Given the description of an element on the screen output the (x, y) to click on. 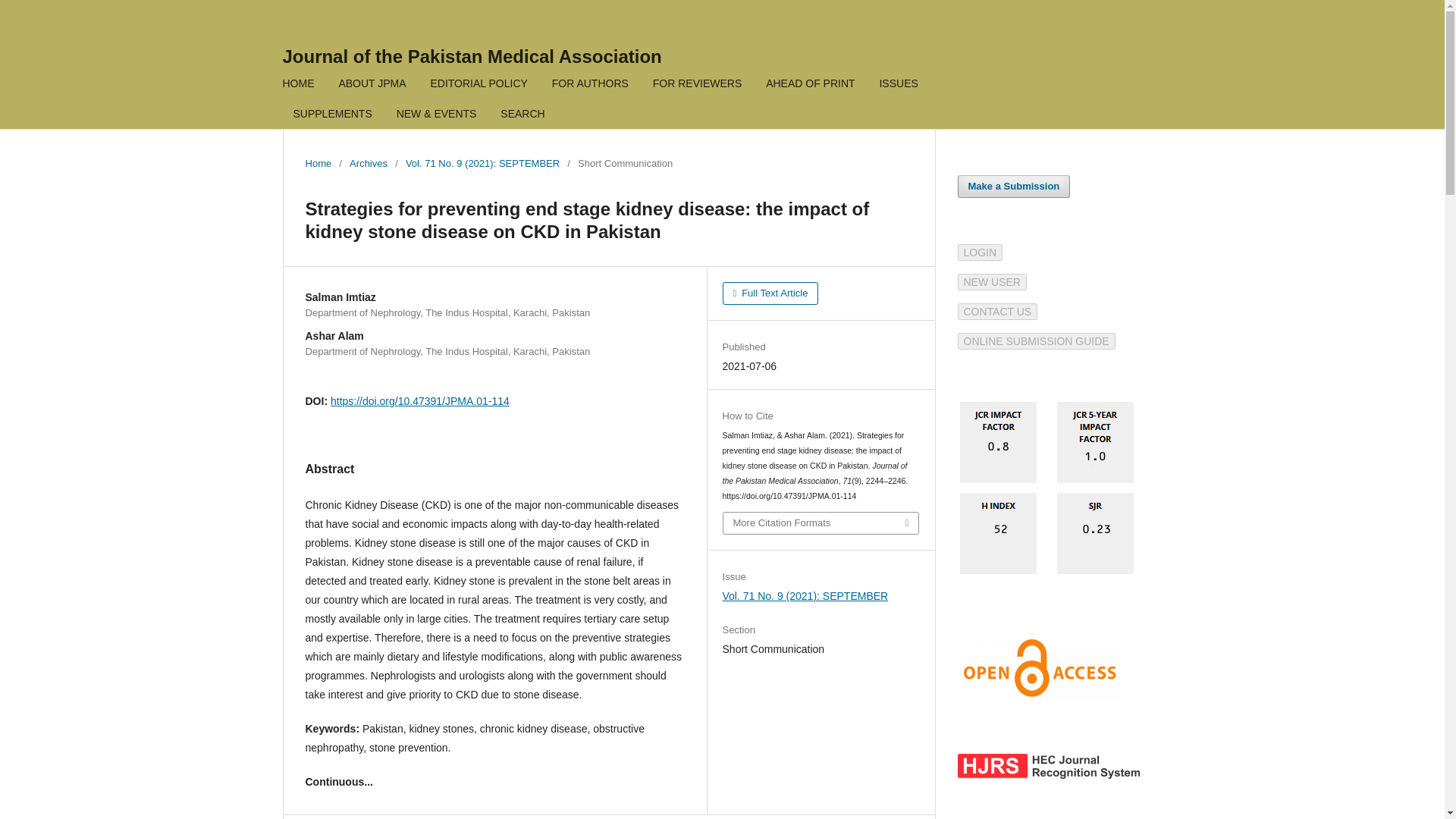
Journal of the Pakistan Medical Association (471, 56)
Contect Us (996, 311)
New User (991, 282)
EDITORIAL POLICY (478, 85)
LOGIN (979, 252)
SUPPLEMENTS (332, 115)
ONLINE SUBMISSION GUIDE (1035, 340)
FOR AUTHORS (590, 85)
ISSUES (898, 85)
ABOUT JPMA (371, 85)
